Given the description of an element on the screen output the (x, y) to click on. 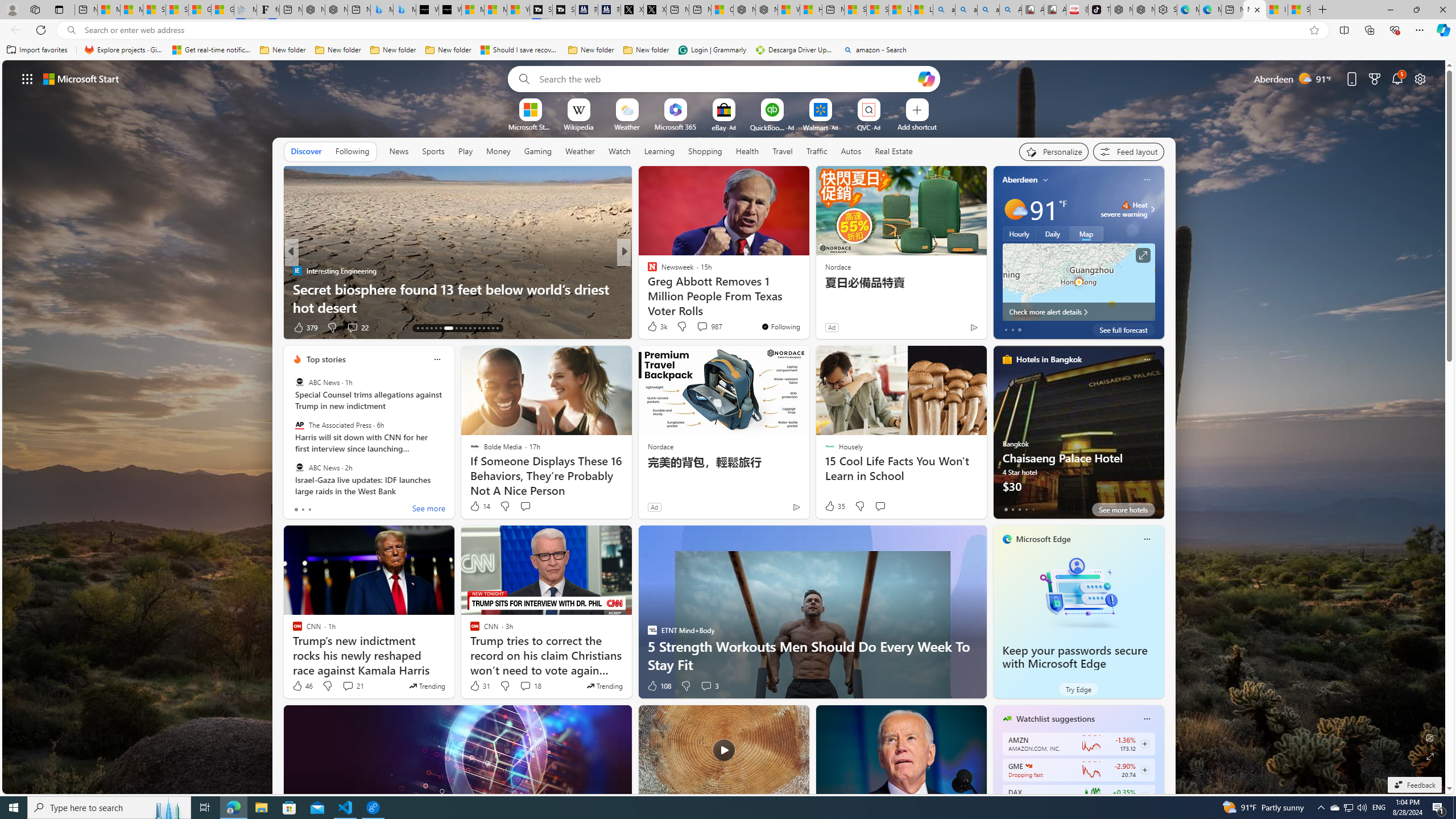
AutomationID: tab-27 (488, 328)
CBS News (Video) (647, 270)
Hide this story (774, 179)
AutomationID: tab-26 (483, 328)
View comments 2 Comment (698, 327)
379 Like (304, 327)
Housely (647, 270)
Descarga Driver Updater (794, 49)
